Given the description of an element on the screen output the (x, y) to click on. 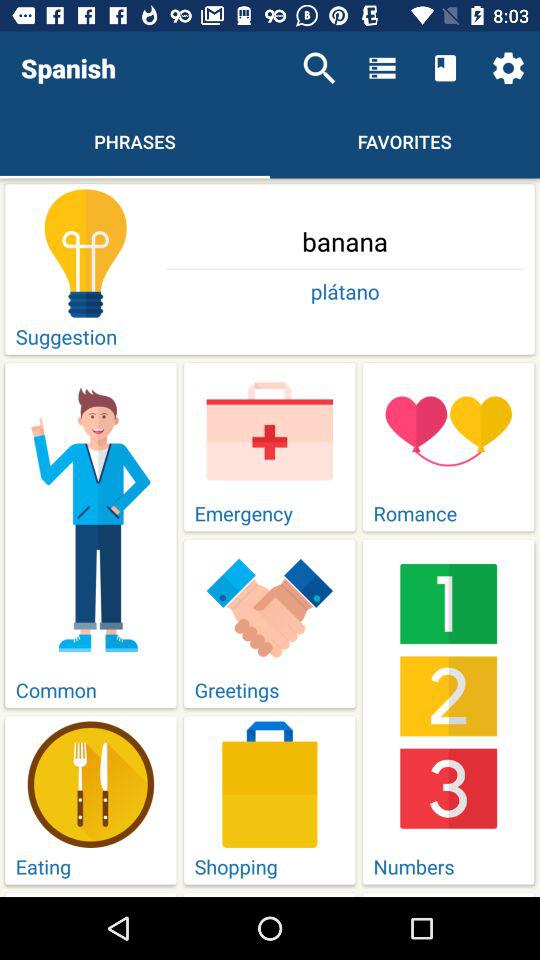
choose item above the favorites item (381, 67)
